Given the description of an element on the screen output the (x, y) to click on. 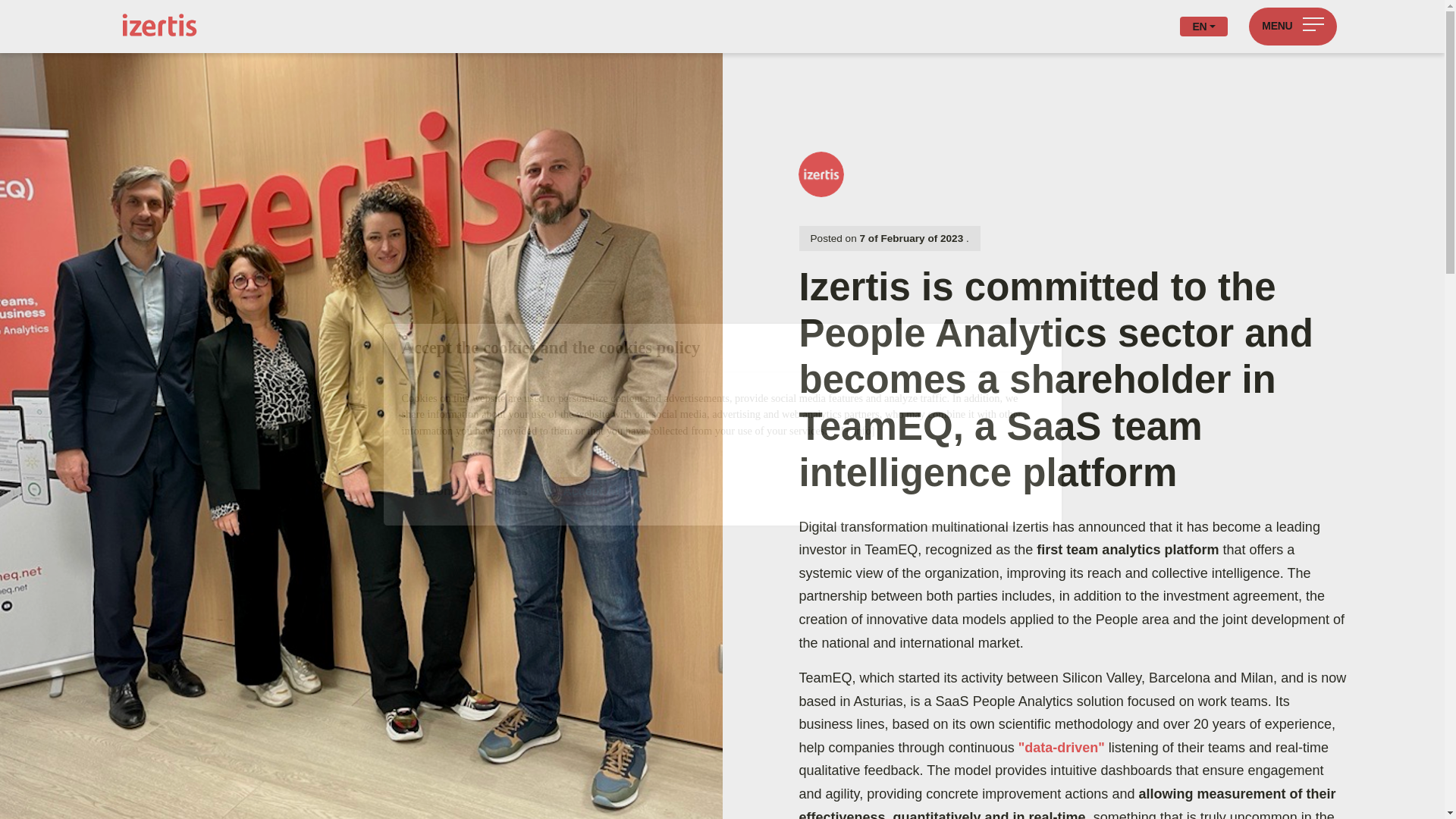
Go to Izertis (140, 19)
MENU (1292, 26)
EN (1204, 26)
"data-driven" (1061, 747)
